Given the description of an element on the screen output the (x, y) to click on. 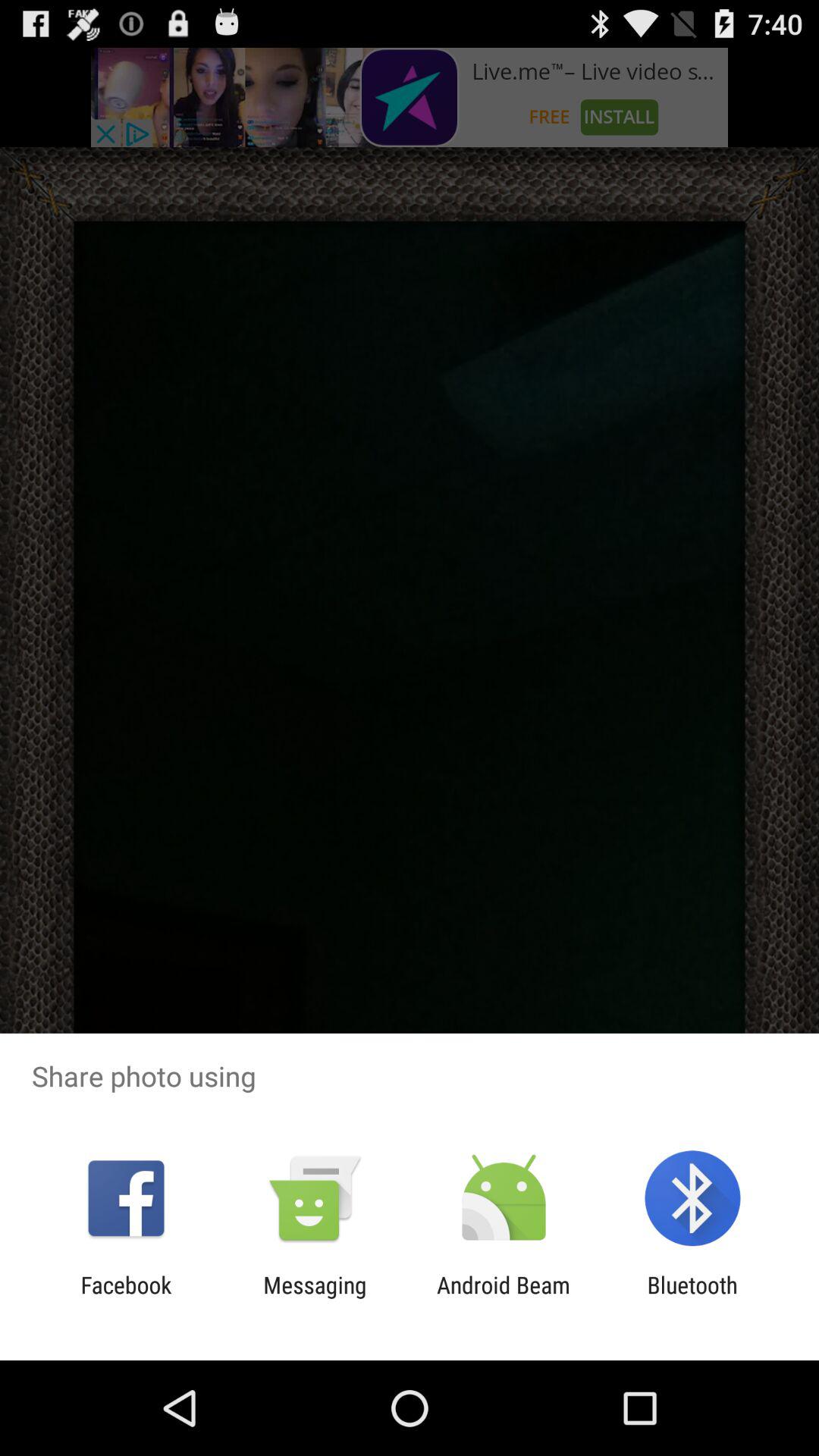
turn on app next to messaging icon (503, 1298)
